Given the description of an element on the screen output the (x, y) to click on. 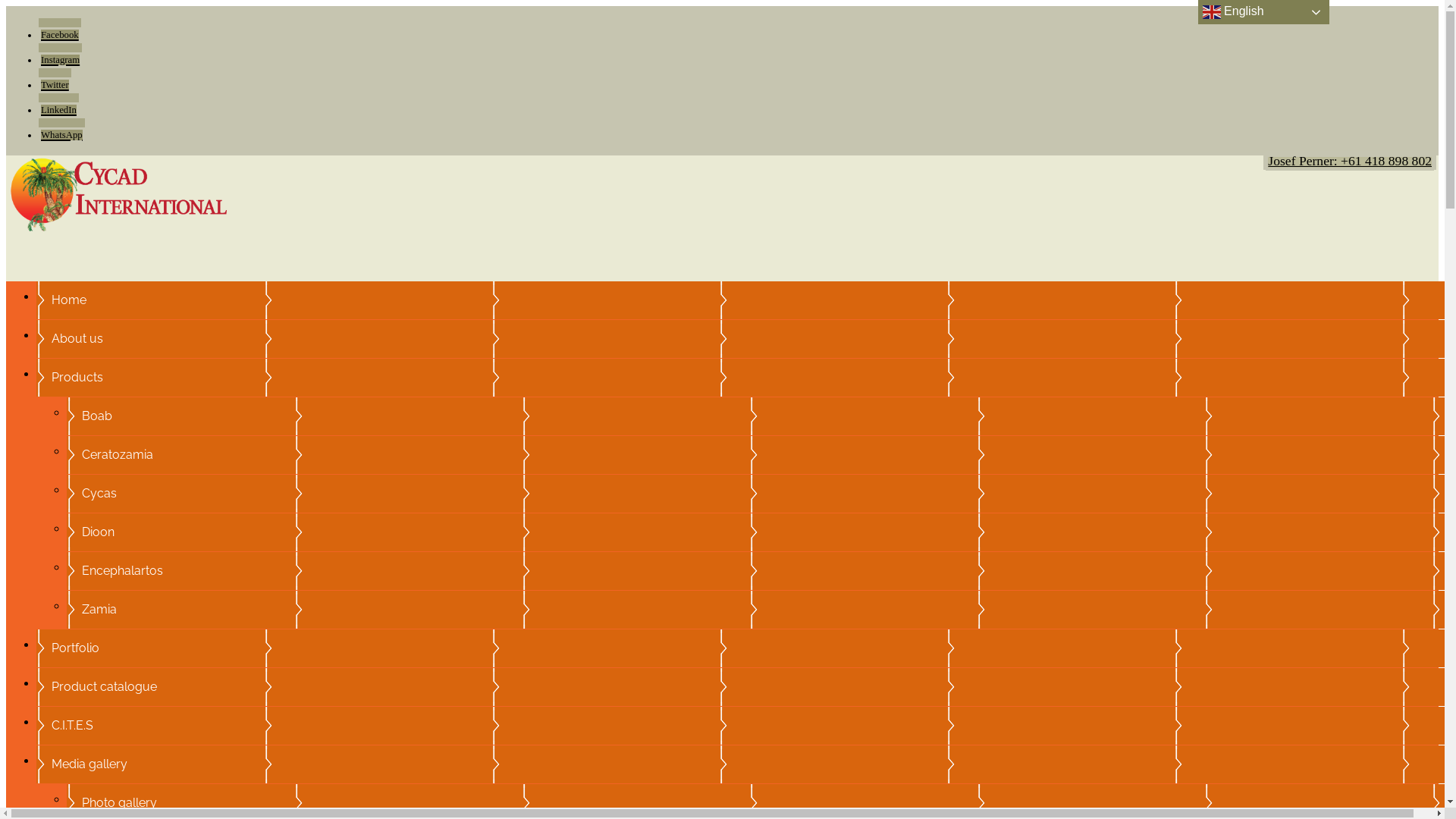
LinkedIn Element type: text (58, 105)
Josef Perner: +61 418 898 802 Element type: text (1349, 160)
Facebook Element type: text (59, 30)
WhatsApp Element type: text (61, 130)
English Element type: text (1263, 12)
Twitter Element type: text (54, 80)
Instagram Element type: text (59, 55)
